Given the description of an element on the screen output the (x, y) to click on. 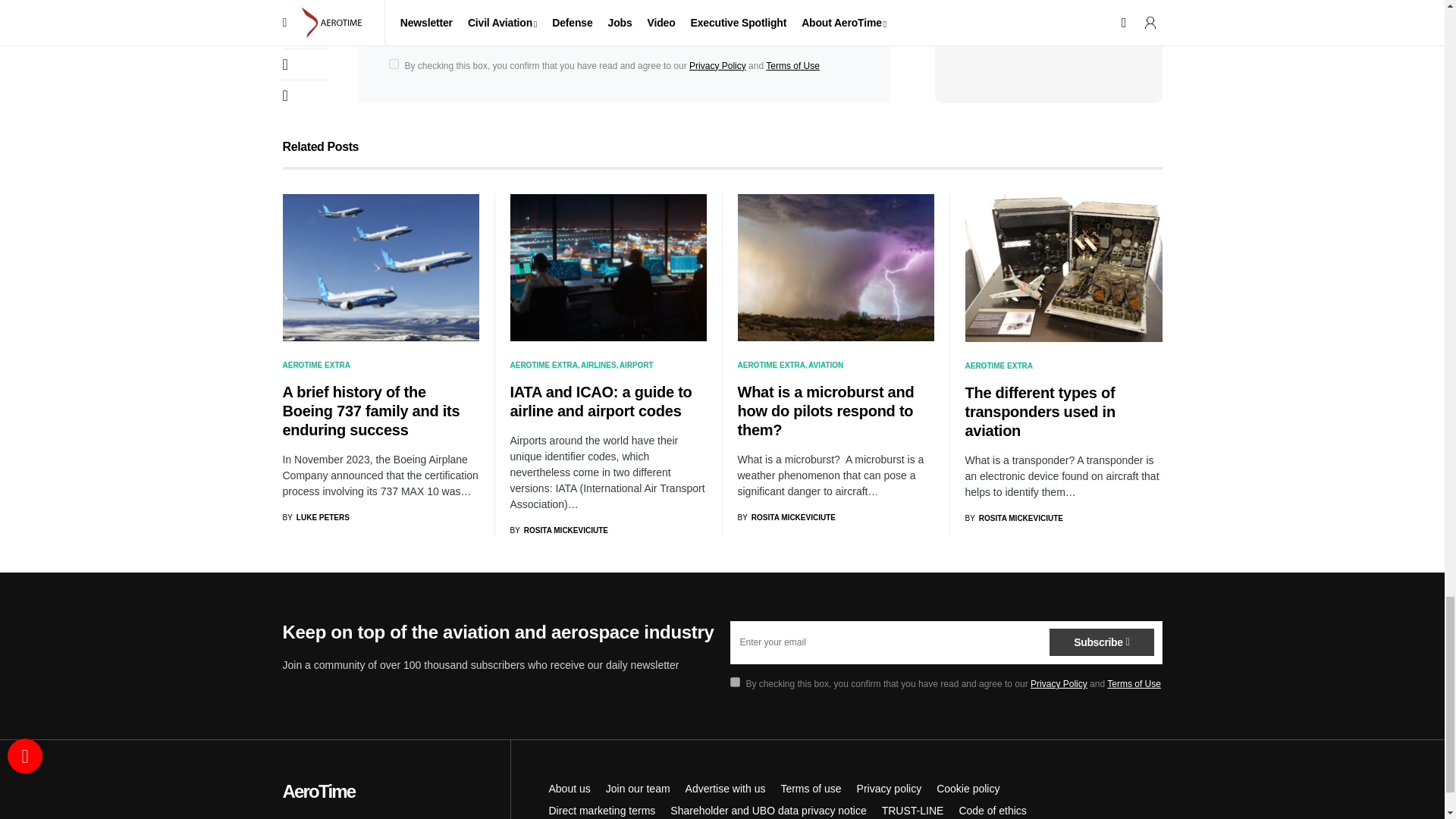
View all posts by Rosita Mickeviciute (785, 517)
View all posts by Rosita Mickeviciute (1012, 518)
on (734, 682)
on (392, 63)
View all posts by Luke Peters (315, 517)
View all posts by Rosita Mickeviciute (558, 530)
